Given the description of an element on the screen output the (x, y) to click on. 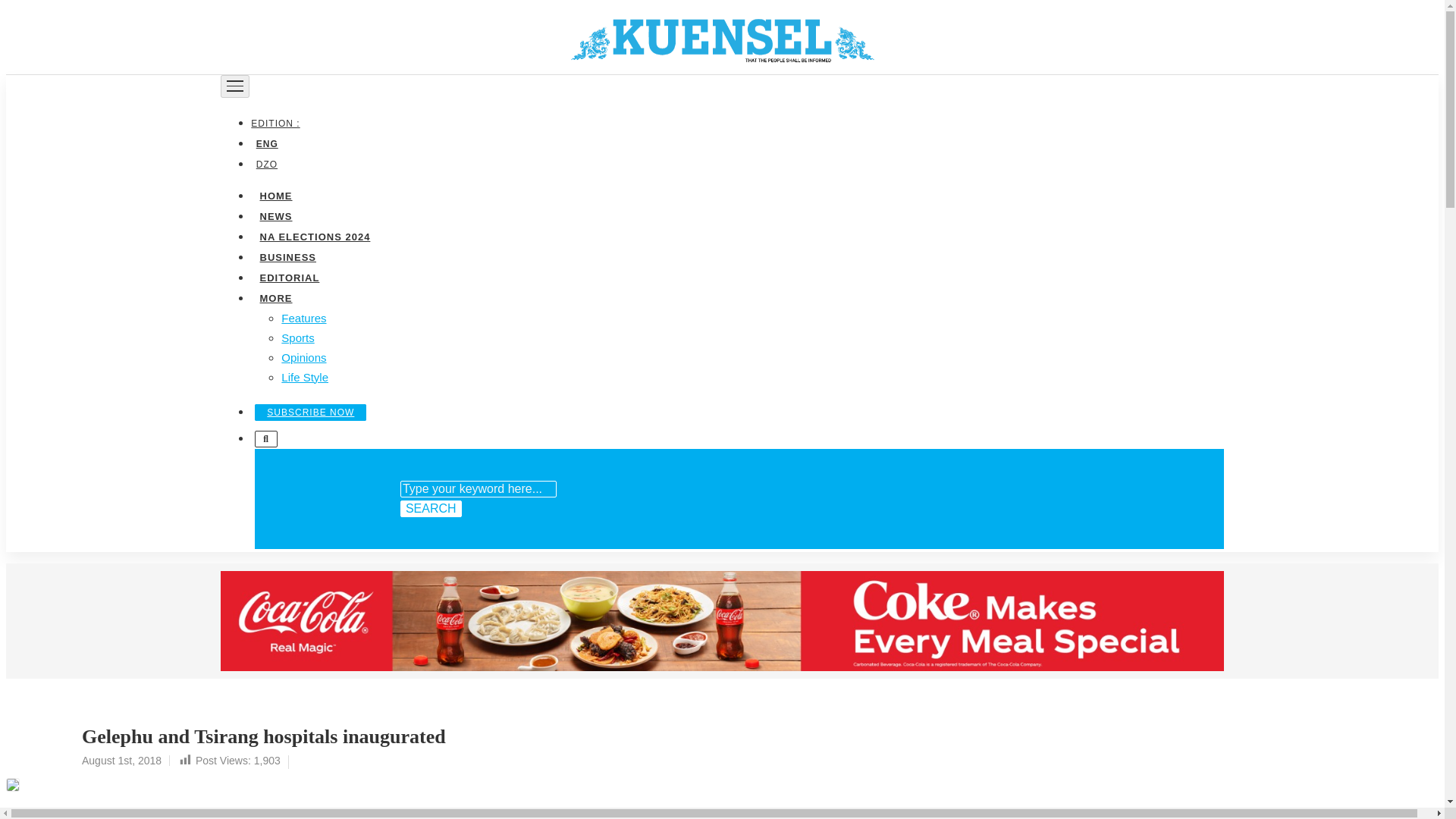
DZO (266, 163)
EDITORIAL (288, 276)
SEARCH (430, 508)
MORE (274, 297)
BUSINESS (287, 256)
EDITION : (277, 122)
Life Style (305, 376)
Features (303, 317)
Opinions (303, 356)
NA ELECTIONS 2024 (314, 235)
ENG (266, 143)
NEWS (274, 215)
Sports (297, 336)
SUBSCRIBE NOW (310, 411)
HOME (274, 194)
